Given the description of an element on the screen output the (x, y) to click on. 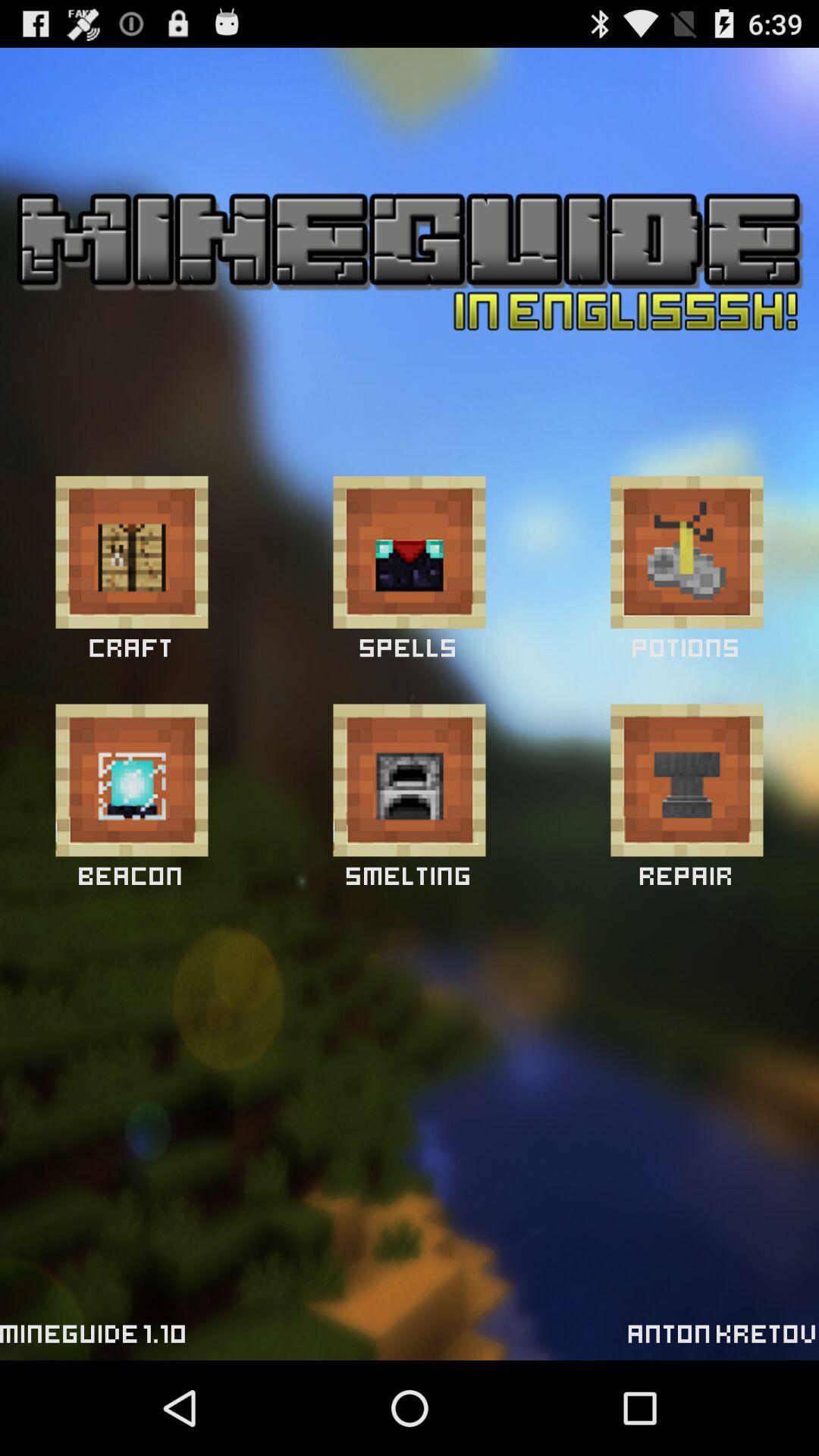
view repair information (686, 780)
